Given the description of an element on the screen output the (x, y) to click on. 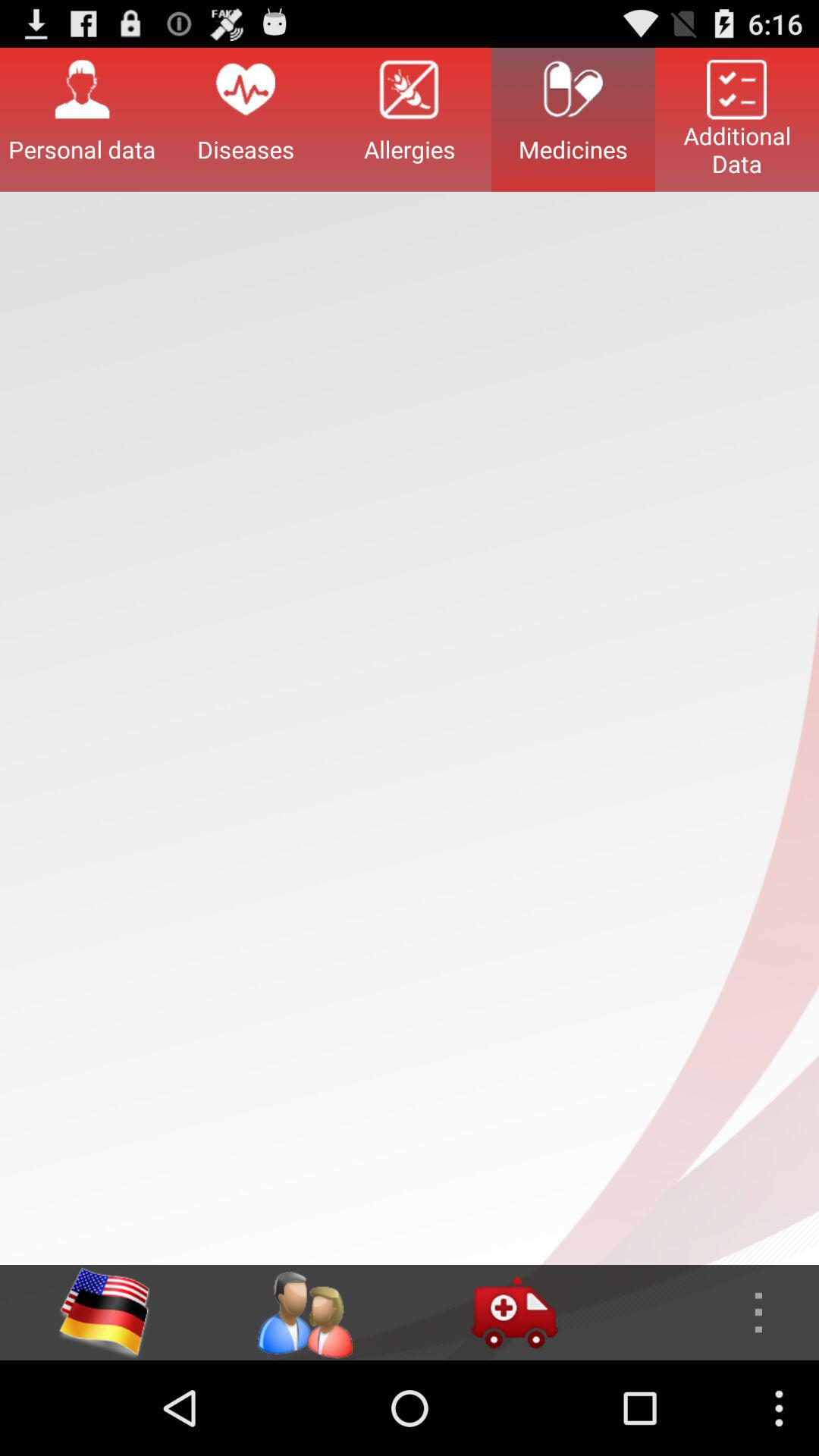
tap the item next to allergies item (245, 119)
